Given the description of an element on the screen output the (x, y) to click on. 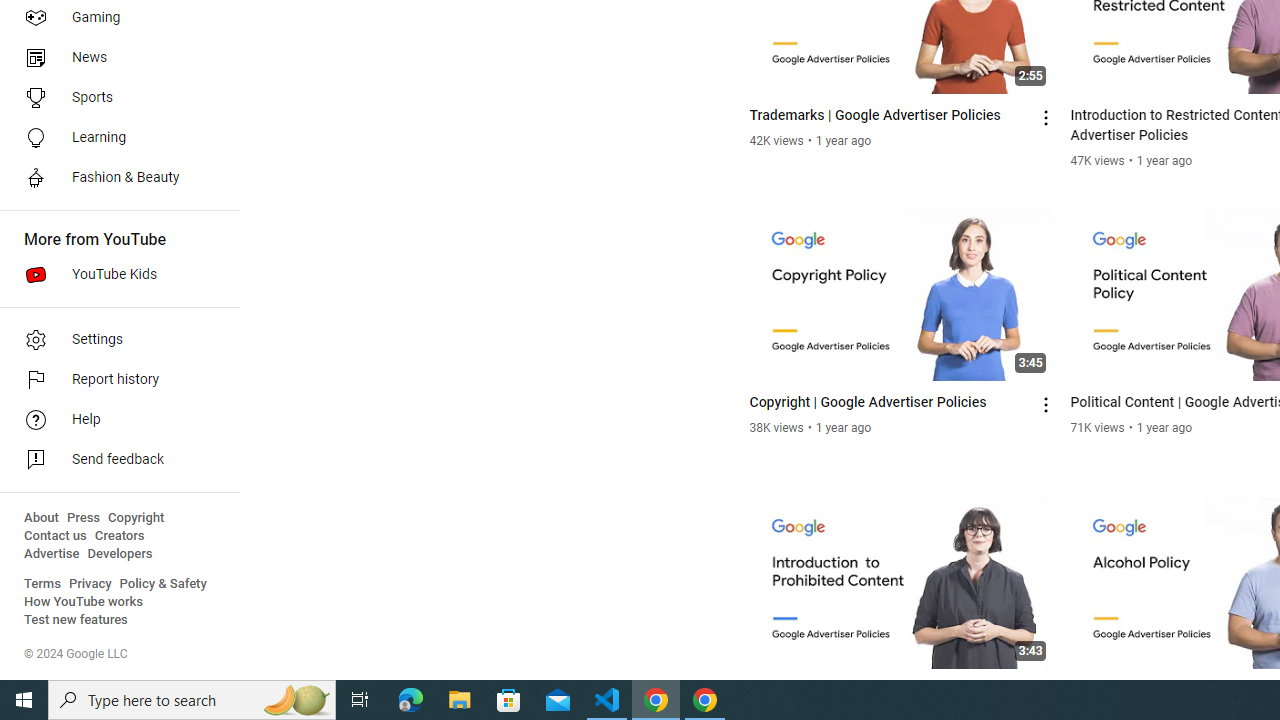
Sports (113, 97)
Copyright (136, 518)
Privacy (89, 584)
Developers (120, 554)
Report history (113, 380)
YouTube Kids (113, 274)
Press (83, 518)
Action menu (1046, 691)
Policy & Safety (163, 584)
